Given the description of an element on the screen output the (x, y) to click on. 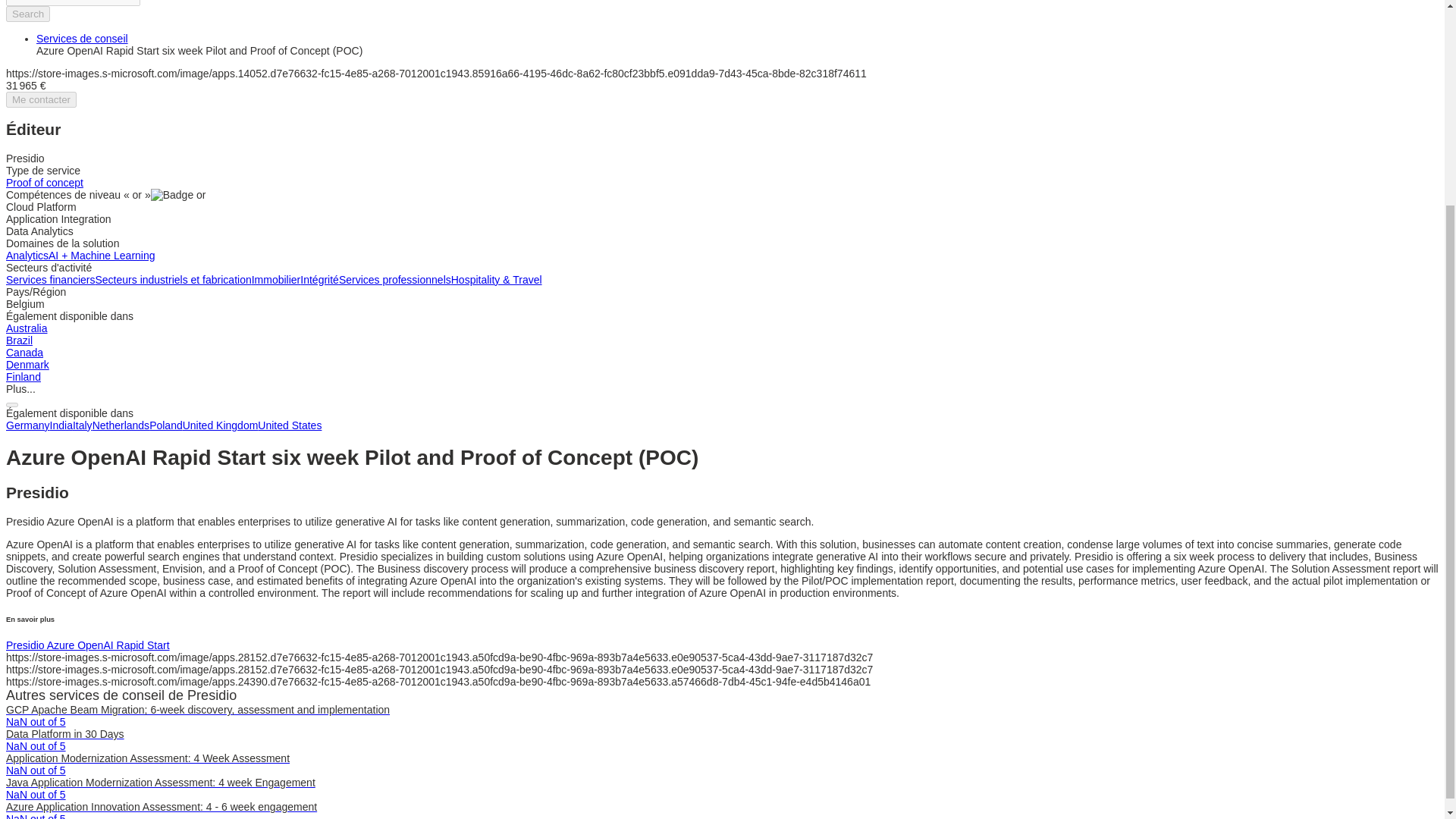
Canada (24, 352)
Proof of concept (43, 182)
Denmark (27, 364)
Services professionnels (395, 279)
Secteurs industriels et fabrication (173, 279)
Italy (82, 425)
Brazil (18, 340)
Services financiers (50, 279)
Services de conseil (82, 38)
Java Application Modernization Assessment: 4 week Engagement (160, 782)
Australia (25, 328)
Germany (27, 425)
Immobilier (276, 279)
Analytics (26, 255)
